Given the description of an element on the screen output the (x, y) to click on. 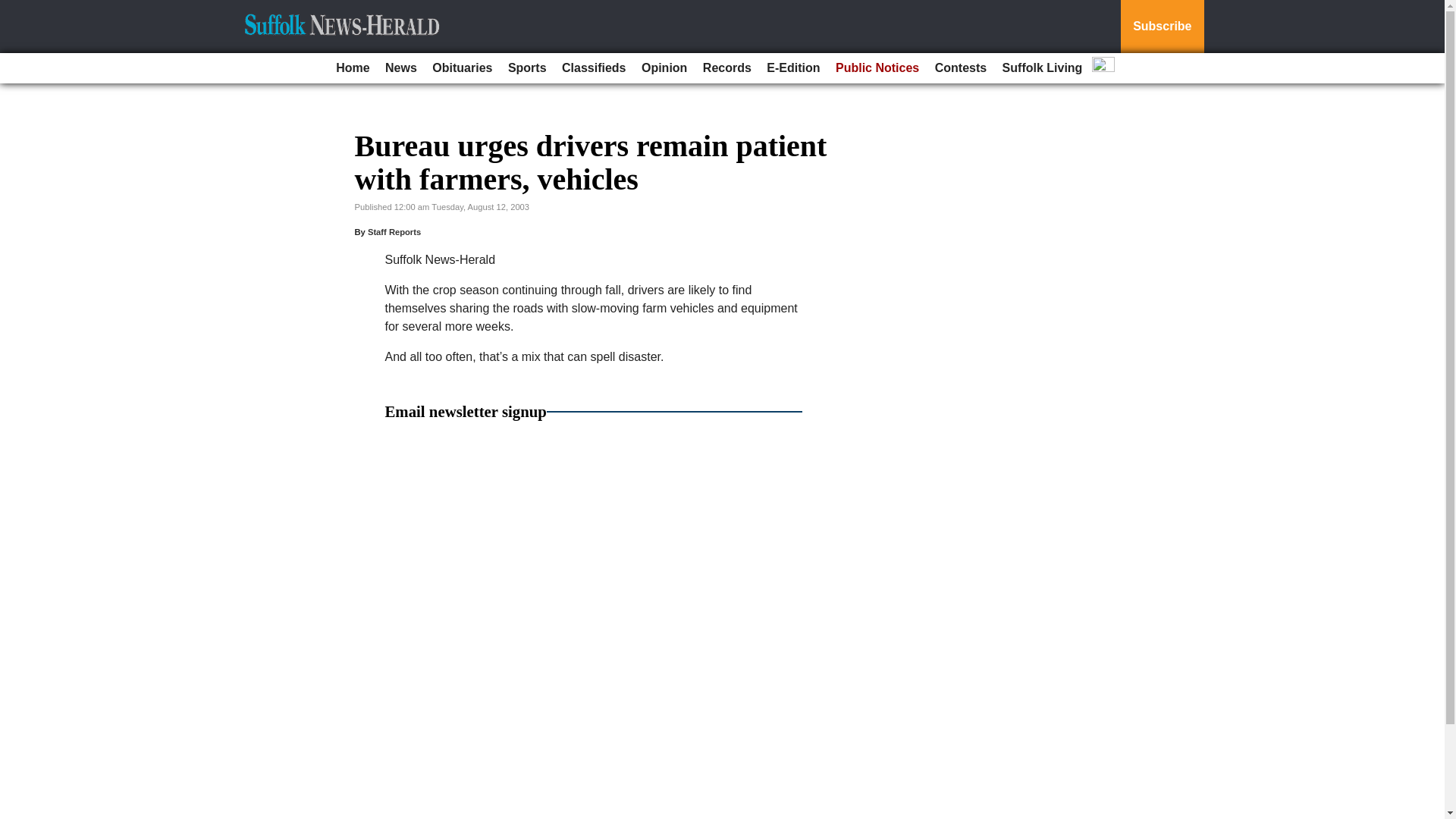
Suffolk Living (1042, 68)
E-Edition (792, 68)
Opinion (663, 68)
Public Notices (876, 68)
Sports (527, 68)
News (400, 68)
Contests (960, 68)
Subscribe (1162, 26)
Classifieds (593, 68)
Records (727, 68)
